Given the description of an element on the screen output the (x, y) to click on. 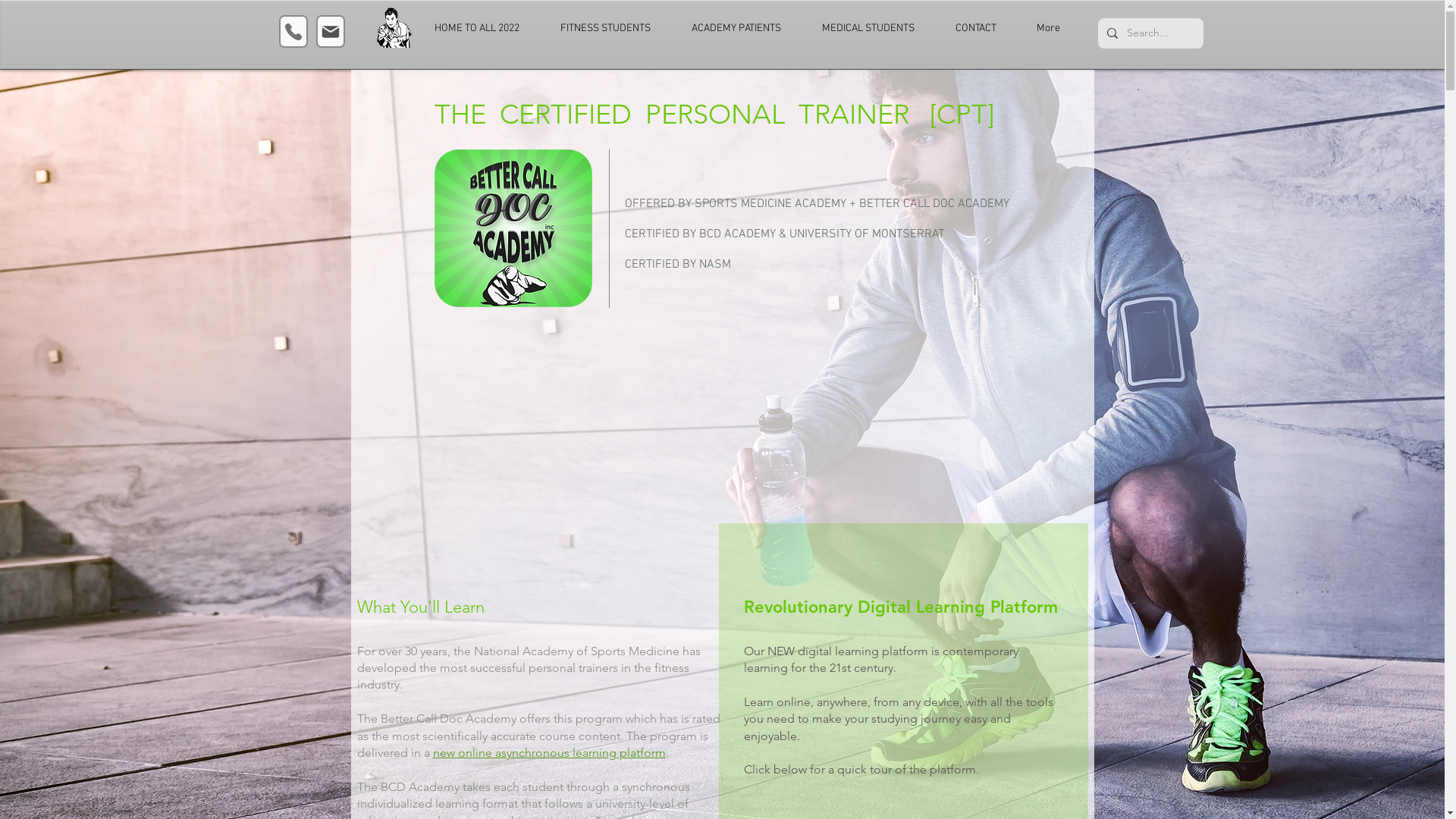
FITNESS STUDENTS Element type: text (614, 28)
HOME TO ALL 2022 Element type: text (486, 28)
CONTACT Element type: text (983, 28)
new online asynchronous learning platform Element type: text (548, 752)
MEDICAL STUDENTS Element type: text (876, 28)
ACADEMY PATIENTS Element type: text (744, 28)
